Given the description of an element on the screen output the (x, y) to click on. 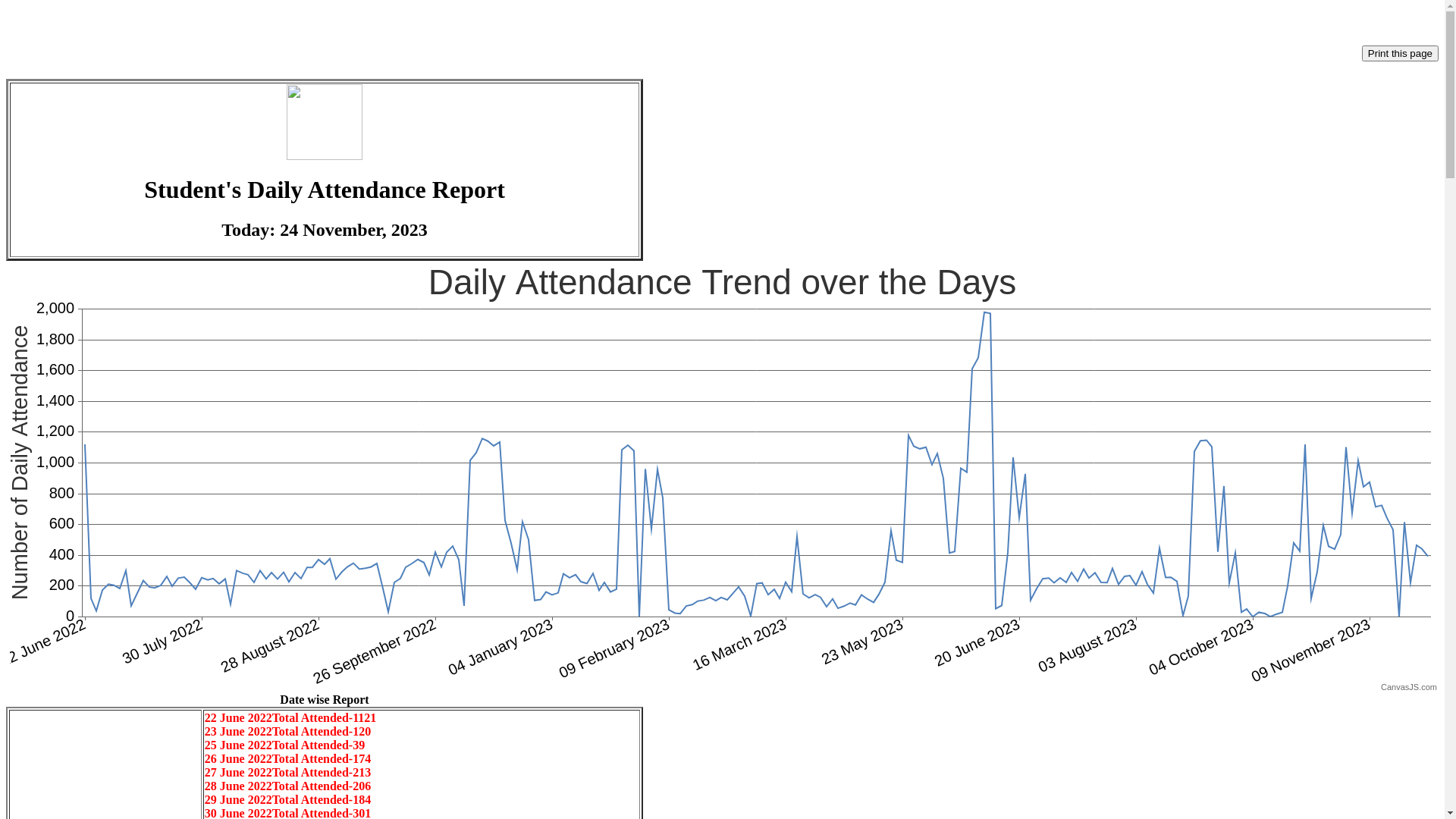
Print this page Element type: text (1399, 53)
CanvasJS.com Element type: text (1408, 686)
